Given the description of an element on the screen output the (x, y) to click on. 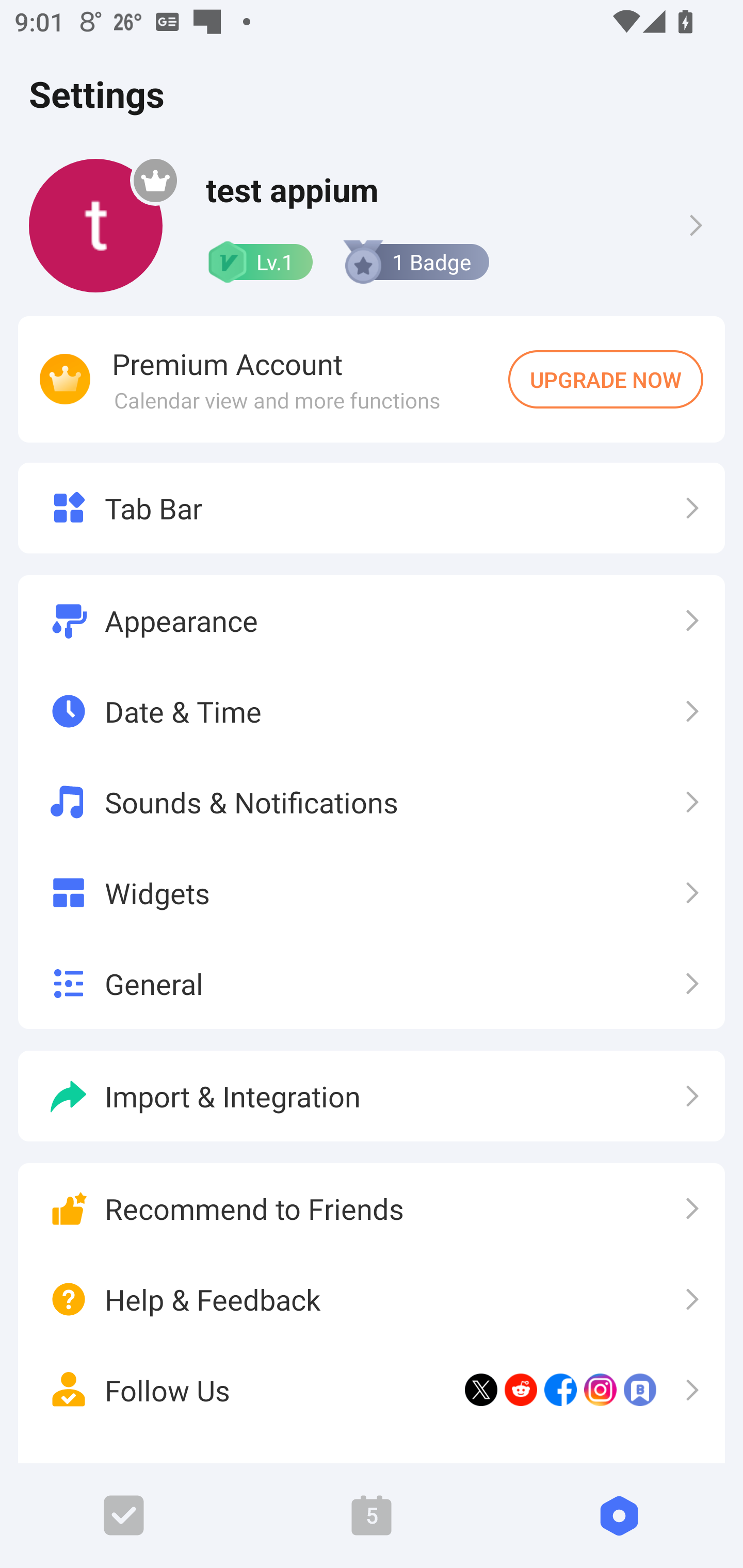
test appium Lv.1 1 Badge (371, 225)
Lv.1 (258, 261)
1 Badge (414, 261)
UPGRADE NOW (605, 379)
Tab Bar (371, 507)
Appearance (371, 620)
Date & Time (371, 711)
Sounds & Notifications (371, 801)
Widgets (371, 891)
General (371, 982)
Import & Integration (371, 1095)
Recommend to Friends (371, 1208)
Help & Feedback (371, 1299)
Follow Us (371, 1389)
